Given the description of an element on the screen output the (x, y) to click on. 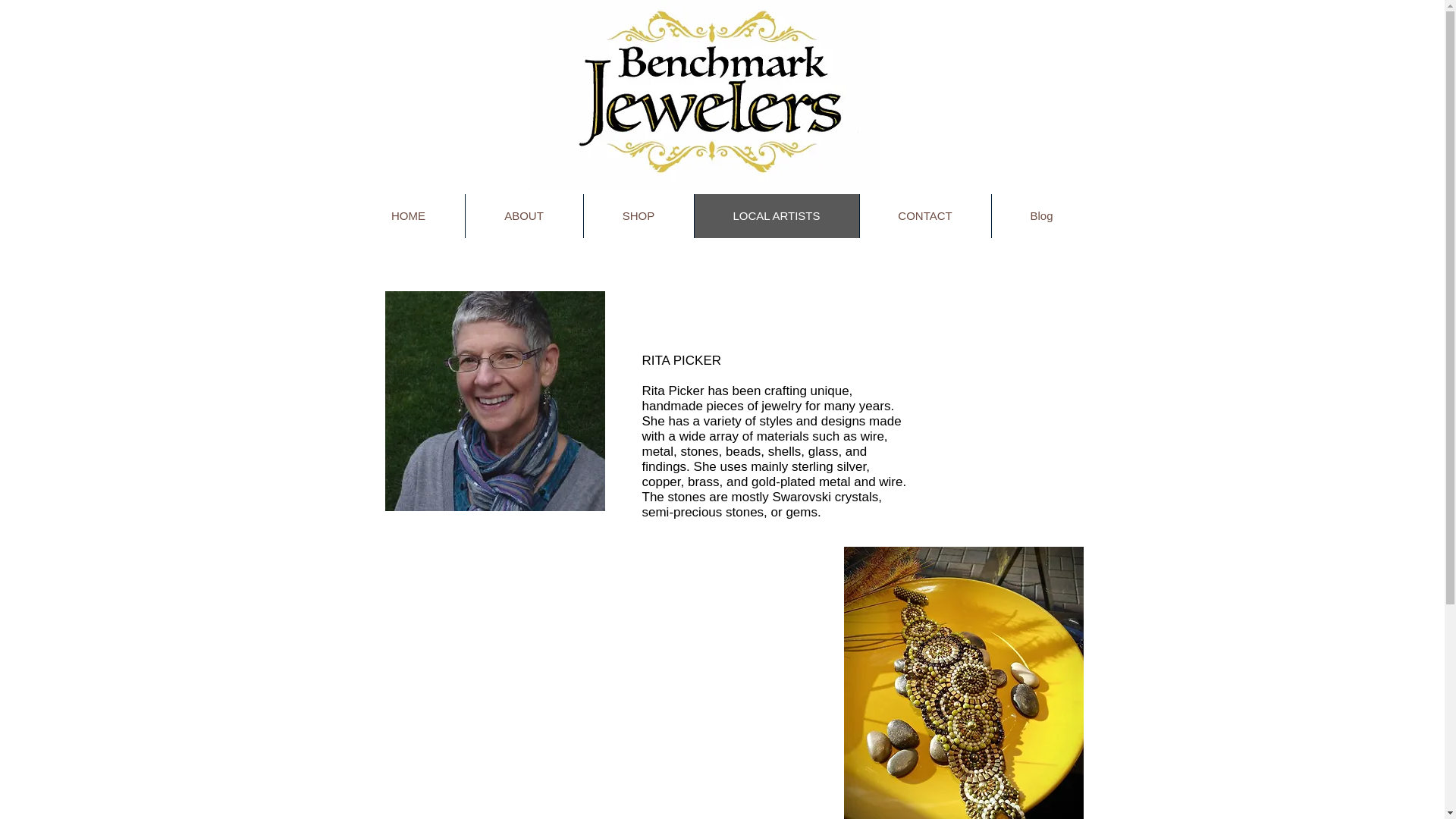
ABOUT (523, 216)
LOCAL ARTISTS (776, 216)
HOME (408, 216)
CONTACT (924, 216)
SHOP (637, 216)
Blog (1040, 216)
